Given the description of an element on the screen output the (x, y) to click on. 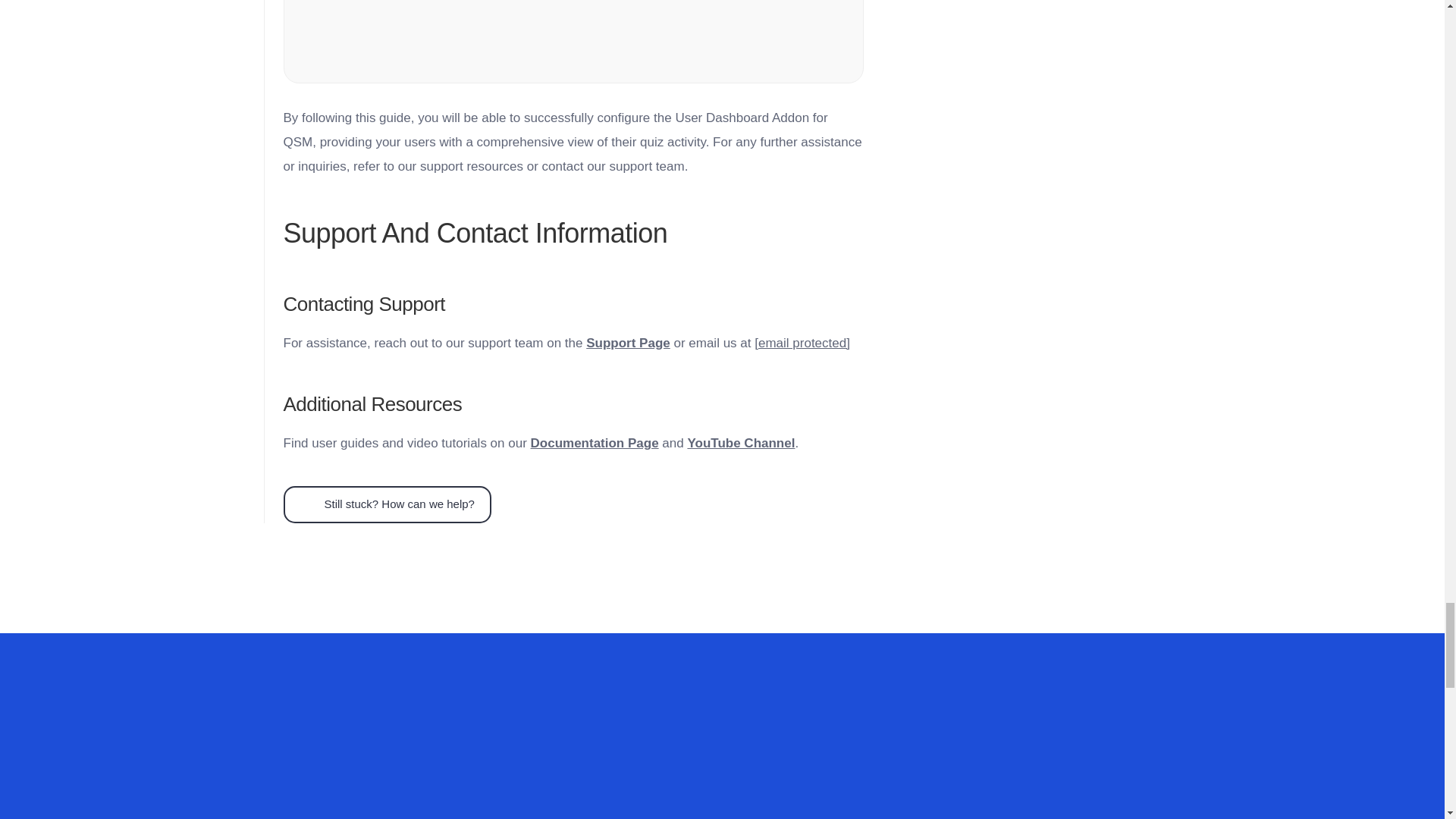
User Dashboard (573, 42)
